Given the description of an element on the screen output the (x, y) to click on. 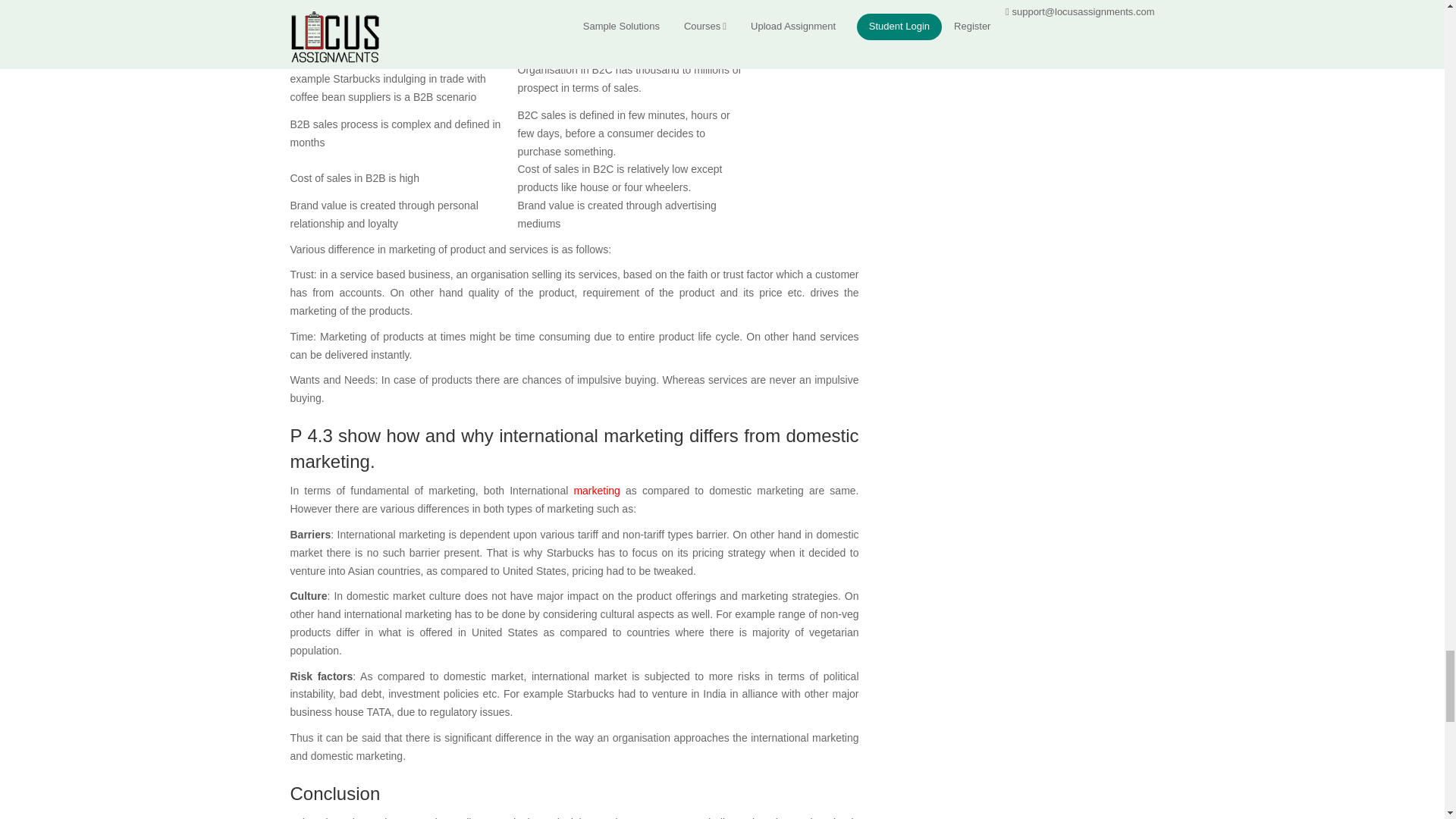
marketing (596, 490)
